Given the description of an element on the screen output the (x, y) to click on. 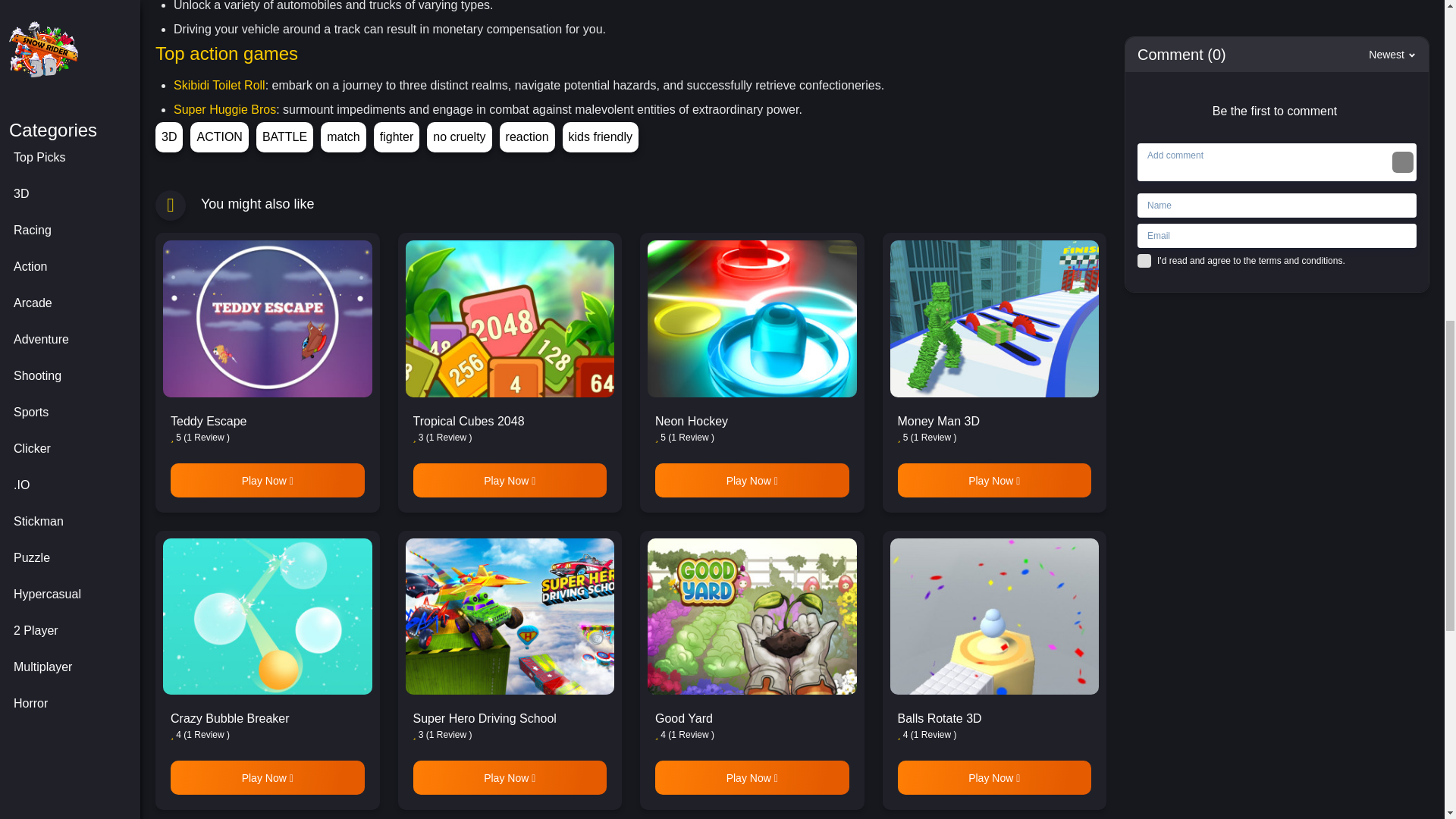
Play Now (267, 480)
fighter (396, 137)
Skibidi Toilet Roll (218, 84)
kids friendly (600, 137)
ACTION (218, 137)
BATTLE (284, 137)
BATTLE (284, 137)
no cruelty (459, 137)
match (343, 137)
reaction (526, 137)
3D (169, 137)
Super Huggie Bros (224, 109)
no cruelty (459, 137)
3D (169, 137)
ACTION (218, 137)
